Given the description of an element on the screen output the (x, y) to click on. 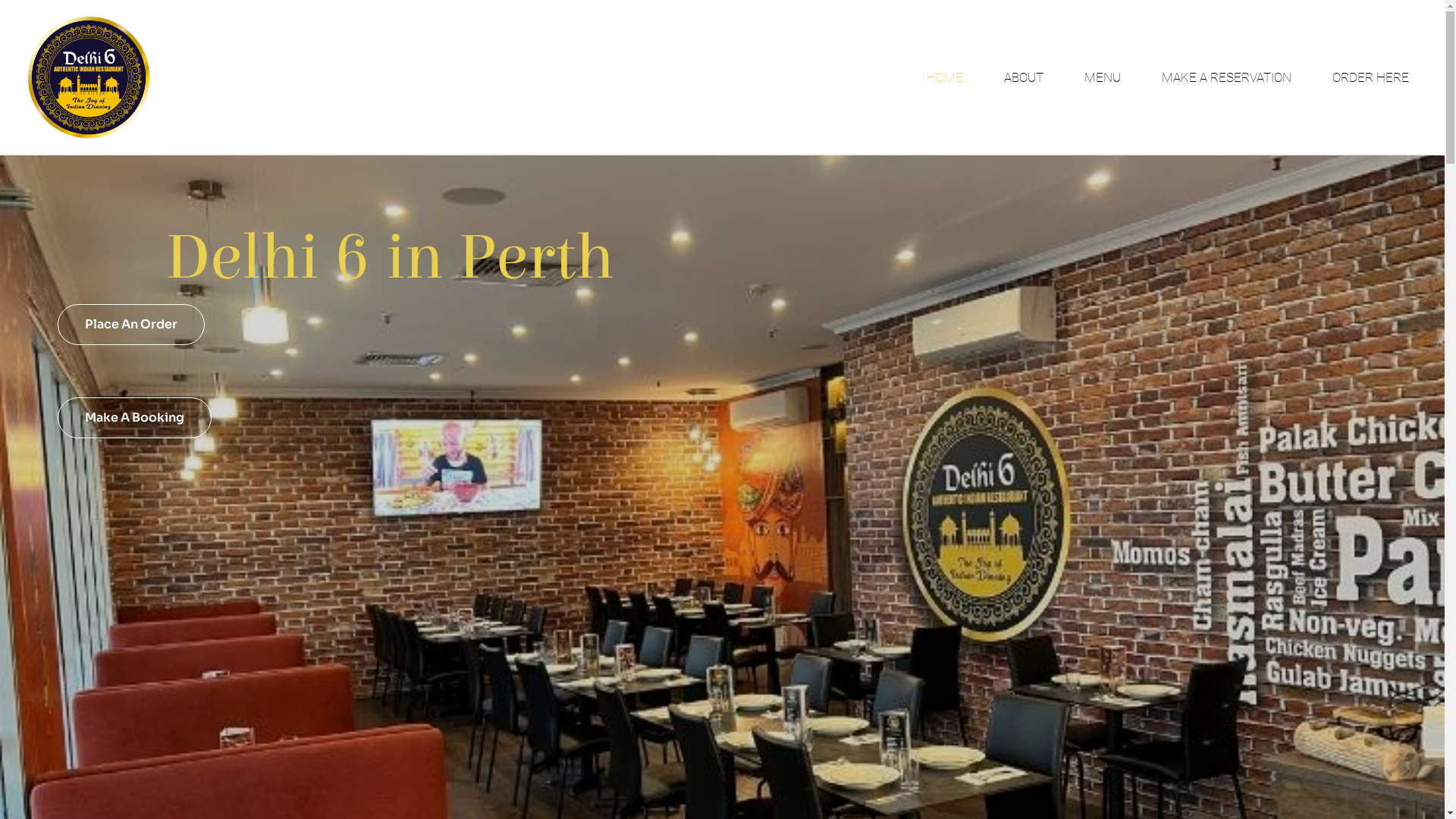
Make A Booking Element type: text (134, 417)
HOME Element type: text (944, 77)
ORDER HERE Element type: text (1370, 77)
MAKE A RESERVATION Element type: text (1226, 77)
Place An Order Element type: text (130, 324)
ABOUT Element type: text (1023, 77)
MENU Element type: text (1102, 77)
